Given the description of an element on the screen output the (x, y) to click on. 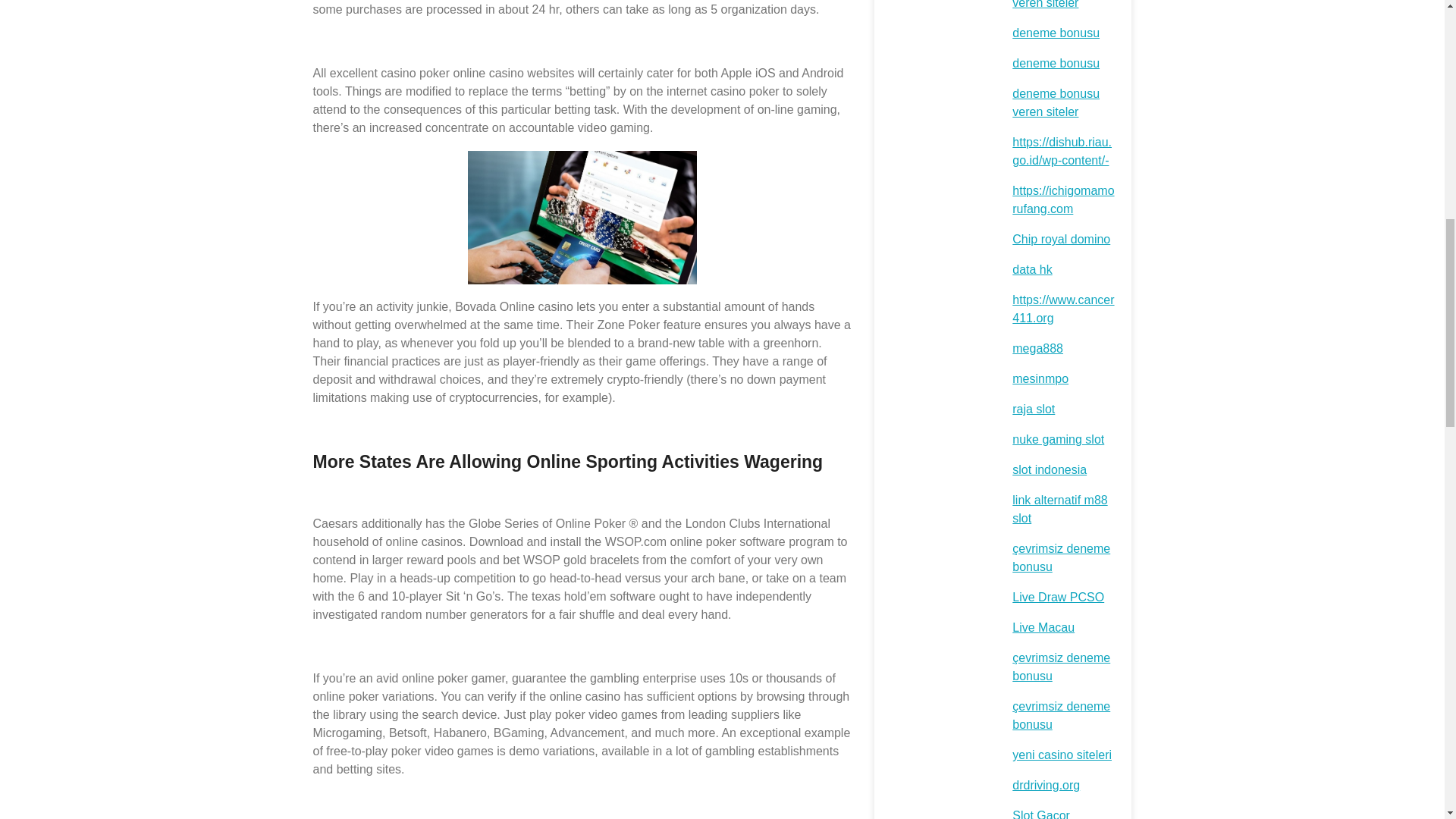
deneme bonusu (1055, 32)
nuke gaming slot (1057, 439)
Live Macau (1042, 626)
yeni casino siteleri (1061, 754)
mega888 (1036, 348)
Live Draw PCSO (1057, 596)
data hk (1031, 269)
deneme bonusu veren siteler (1055, 4)
Slot Gacor (1040, 814)
deneme bonusu veren siteler (1055, 101)
